Given the description of an element on the screen output the (x, y) to click on. 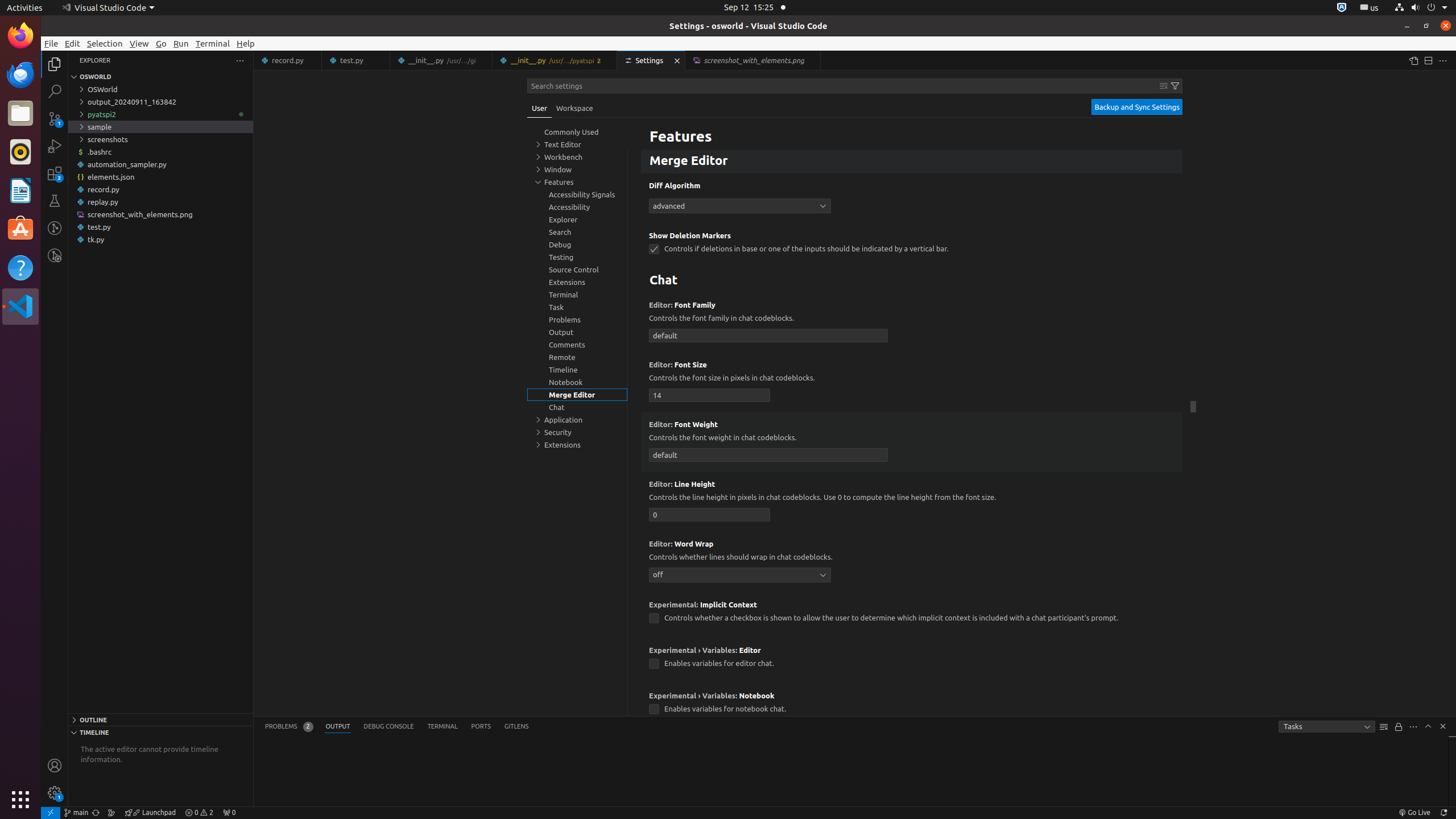
test.py Element type: page-tab (355, 60)
Output, group Element type: tree-item (577, 331)
Close (Ctrl+W) Element type: push-button (812, 60)
User Element type: check-box (539, 107)
Extensions, group Element type: tree-item (577, 444)
